Given the description of an element on the screen output the (x, y) to click on. 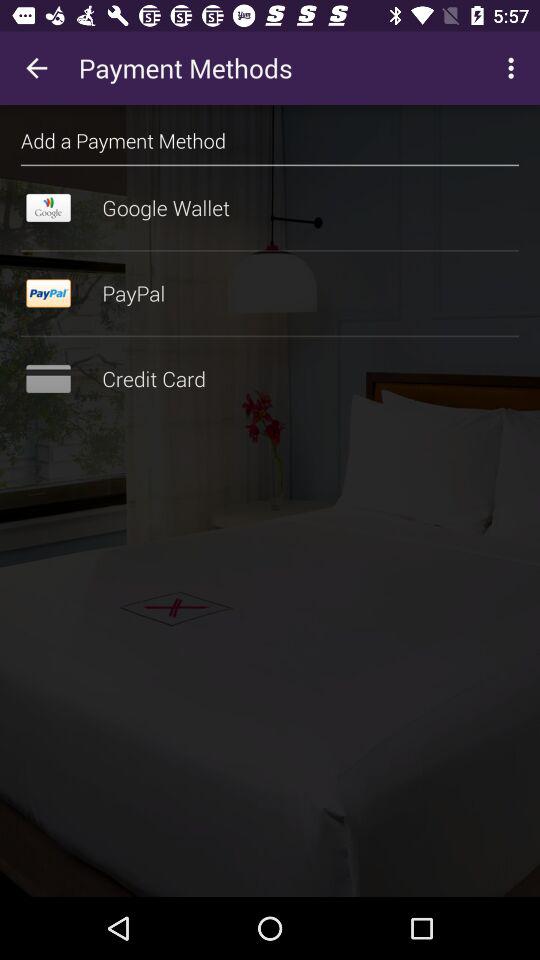
click the app to the left of payment methods icon (36, 68)
